Given the description of an element on the screen output the (x, y) to click on. 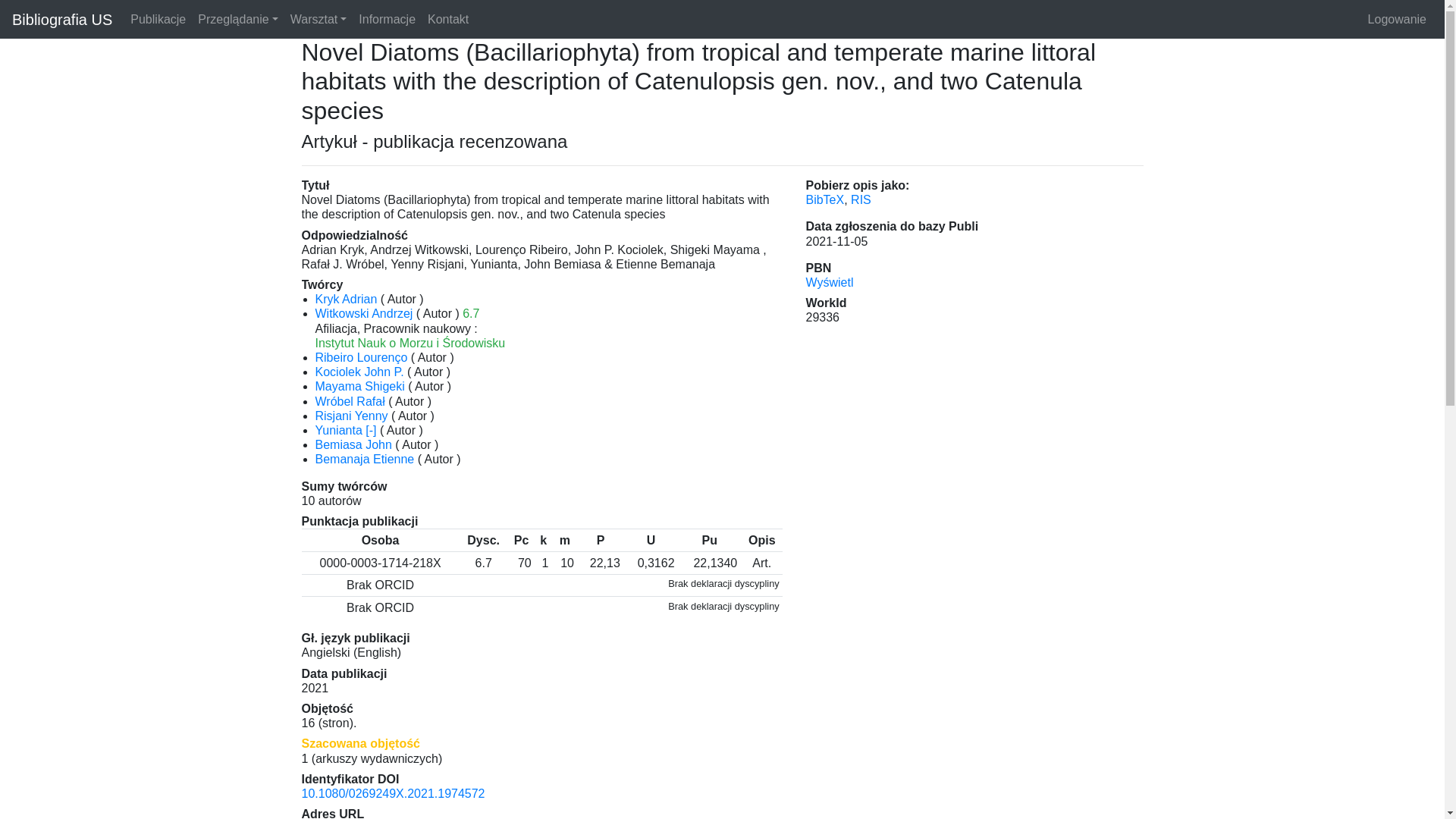
Witkowski Andrzej (364, 313)
Kociolek John P. (359, 371)
Kontakt (448, 18)
Informacje (387, 18)
Warsztat (318, 18)
Kryk Adrian (346, 298)
Bemanaja Etienne (364, 459)
Bemiasa John (353, 444)
Logowanie (1396, 18)
Bibliografia US (61, 19)
Publikacje (157, 18)
Risjani Yenny (351, 415)
Mayama Shigeki (359, 386)
